Given the description of an element on the screen output the (x, y) to click on. 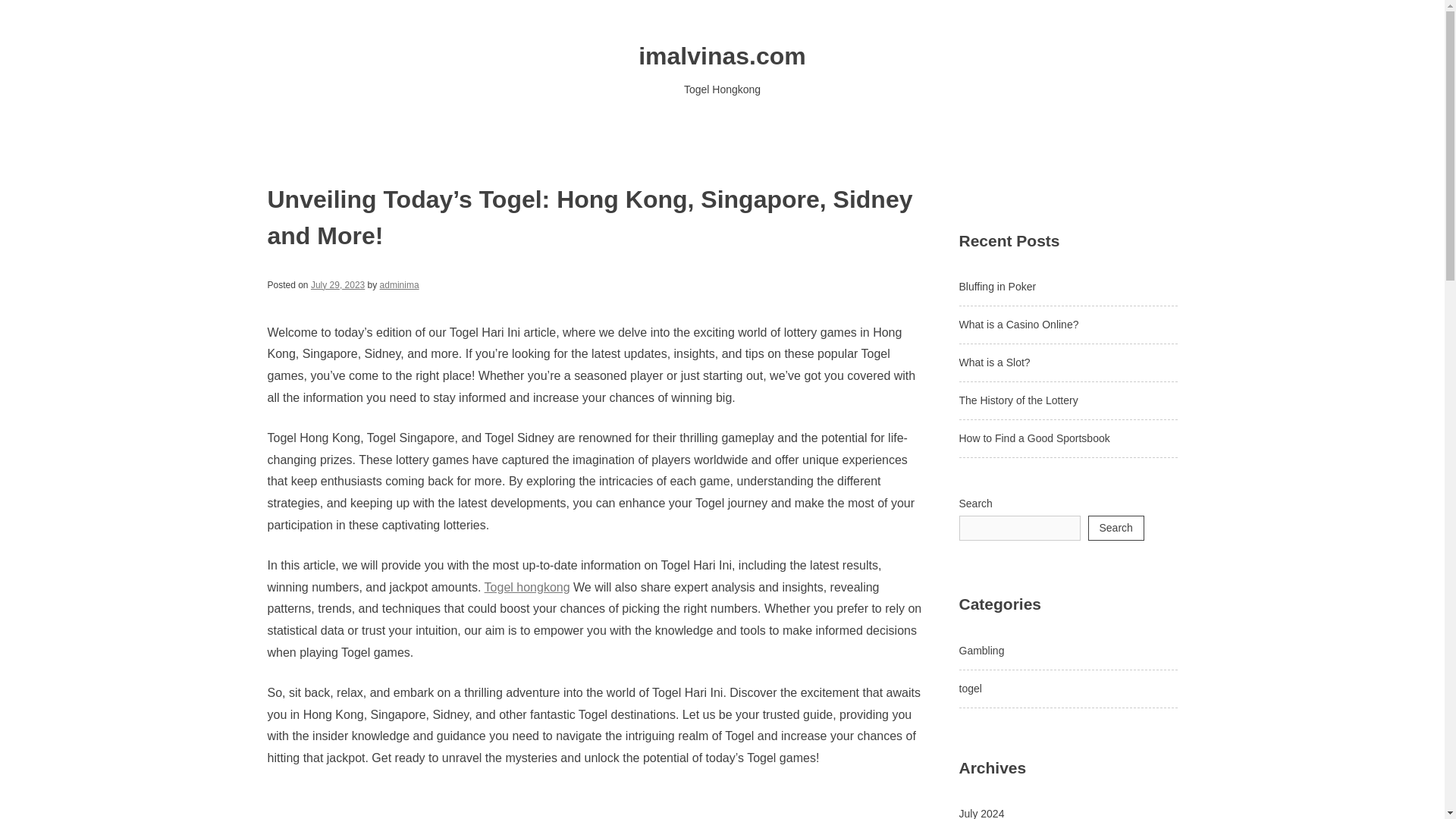
adminima (399, 285)
How to Find a Good Sportsbook (1033, 438)
Search (1114, 527)
What is a Casino Online? (1018, 324)
Togel hongkong (527, 586)
What is a Slot? (993, 362)
The History of the Lottery (1017, 399)
Togel Hongkong (722, 89)
Bluffing in Poker (996, 286)
imalvinas.com (722, 55)
July 29, 2023 (338, 285)
Gambling (981, 650)
July 2024 (981, 813)
togel (969, 688)
